Given the description of an element on the screen output the (x, y) to click on. 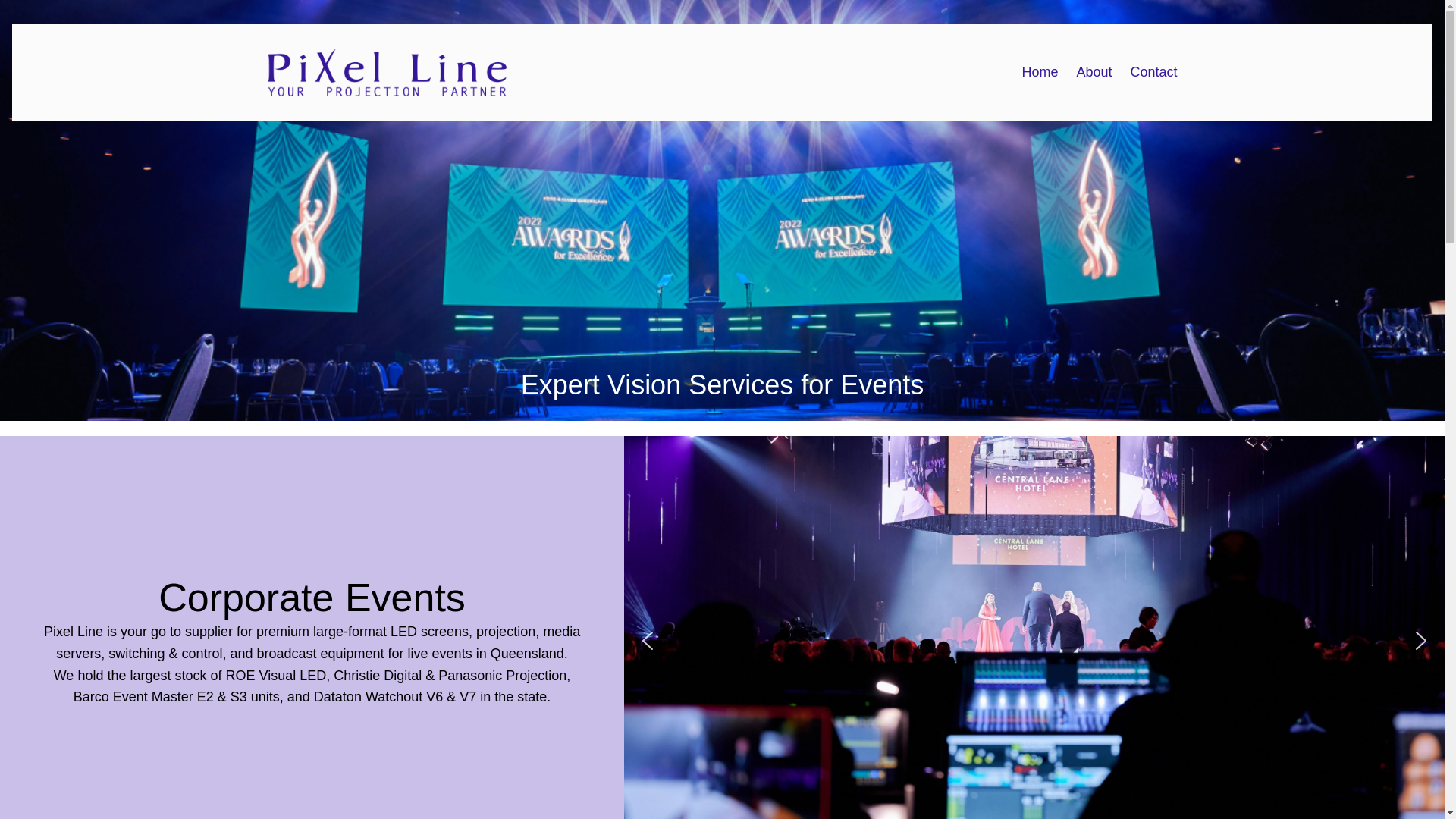
About (1093, 72)
Contact (1152, 72)
Home (1040, 72)
